Given the description of an element on the screen output the (x, y) to click on. 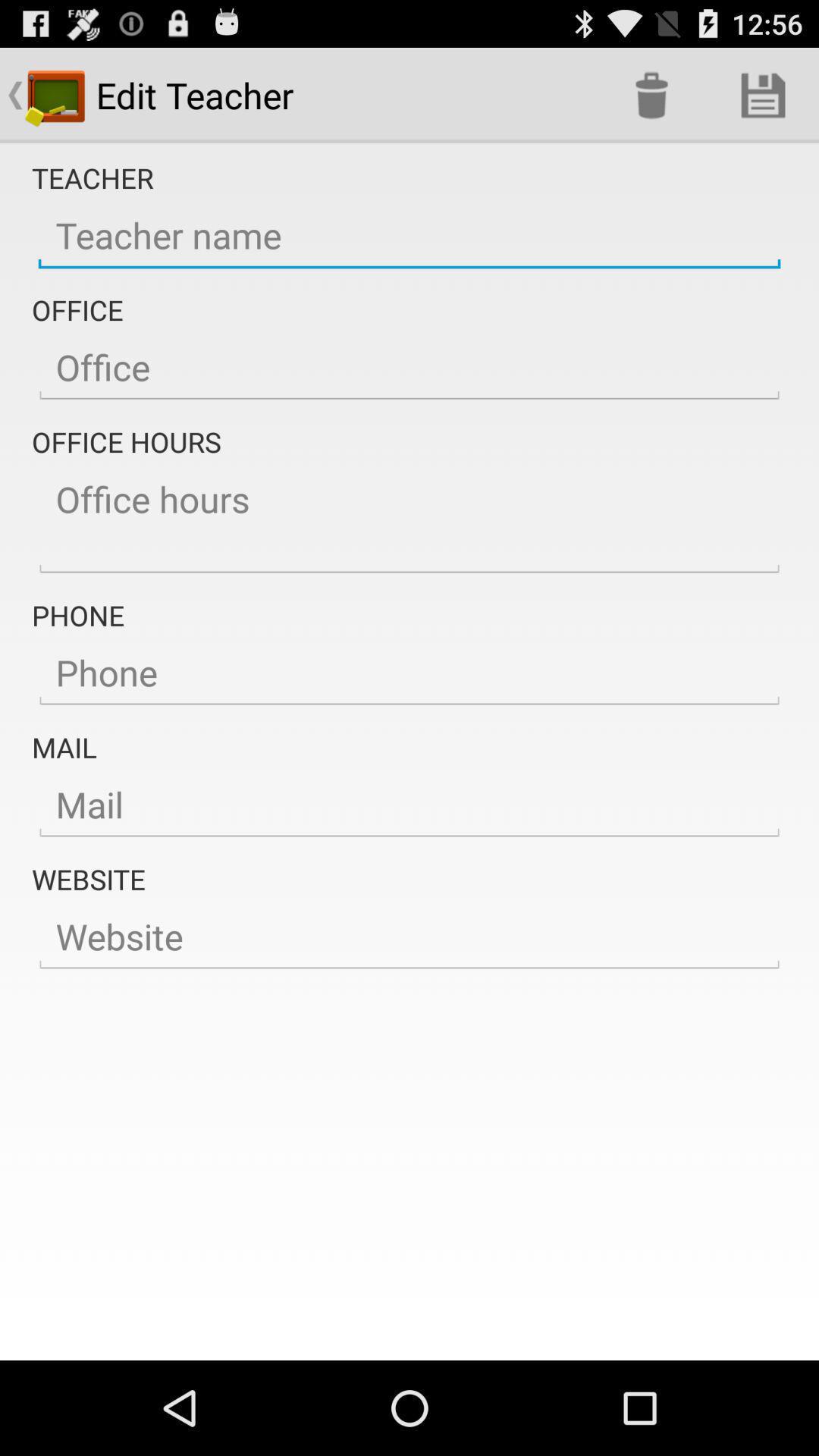
enter phone number (409, 673)
